Given the description of an element on the screen output the (x, y) to click on. 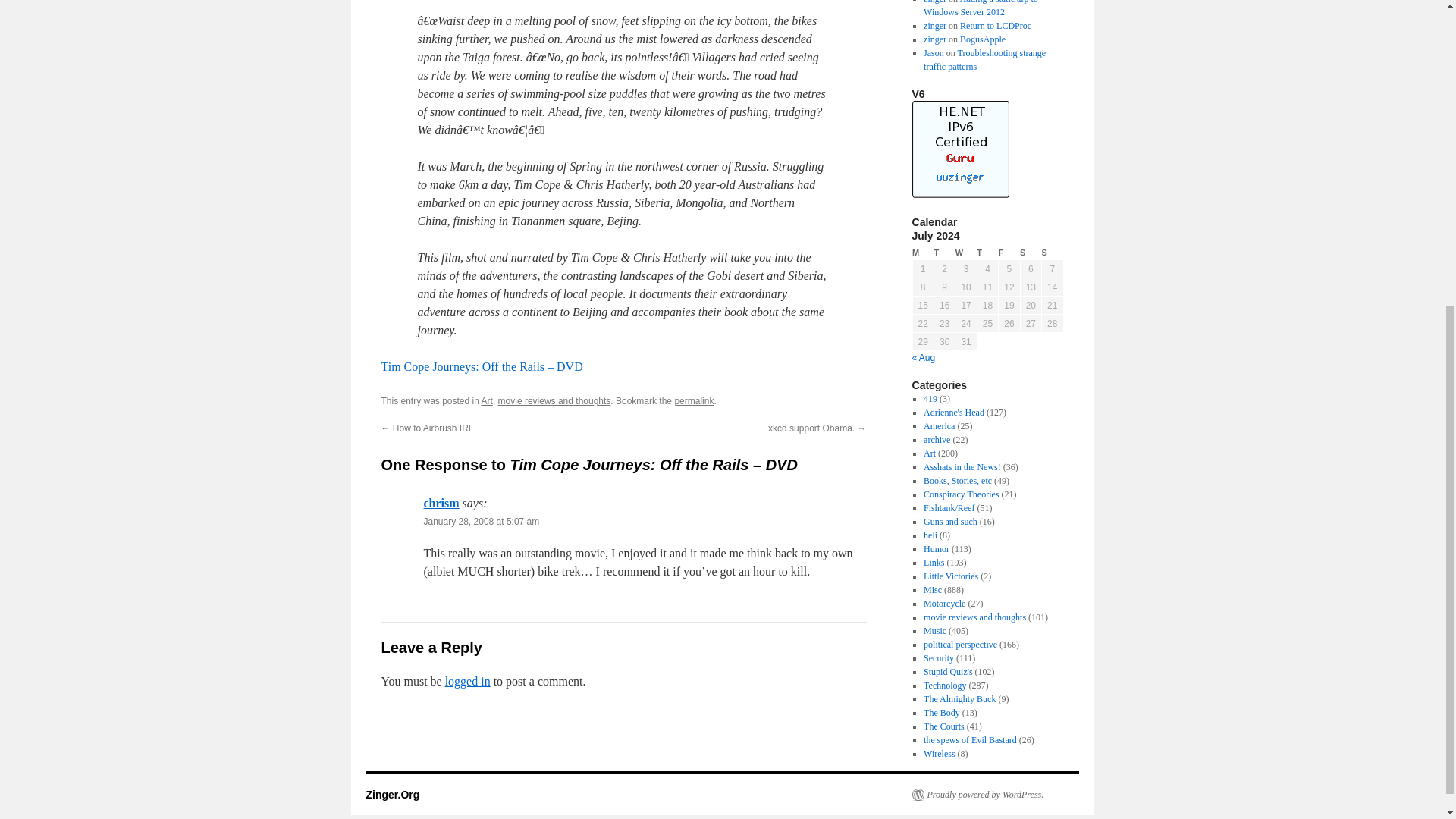
Wednesday (965, 252)
Adding a static arp to Windows Server 2012 (980, 8)
Art (929, 452)
logged in (467, 680)
Jason (933, 52)
January 28, 2008 at 5:07 am (480, 521)
Semantic Personal Publishing Platform (977, 794)
Sunday (1052, 252)
Tuesday (944, 252)
zinger (934, 39)
Friday (1009, 252)
Return to LCDProc (994, 25)
chrism (440, 502)
archive (936, 439)
Troubleshooting strange traffic patterns (984, 59)
